Given the description of an element on the screen output the (x, y) to click on. 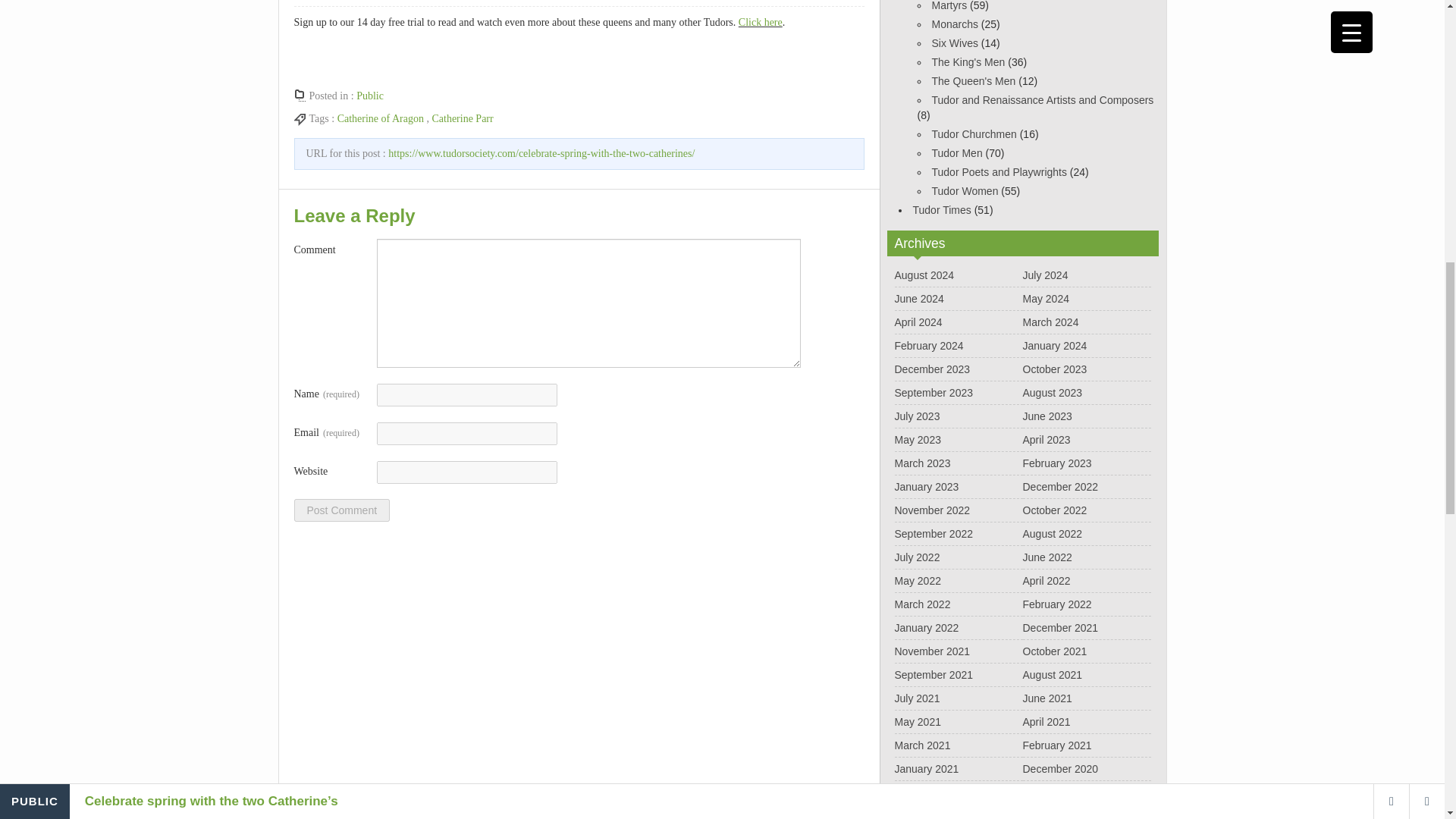
Post Comment (342, 509)
Post Comment (342, 509)
Click here (760, 21)
Catherine Parr (461, 118)
Public (370, 95)
Catherine of Aragon (380, 118)
